Given the description of an element on the screen output the (x, y) to click on. 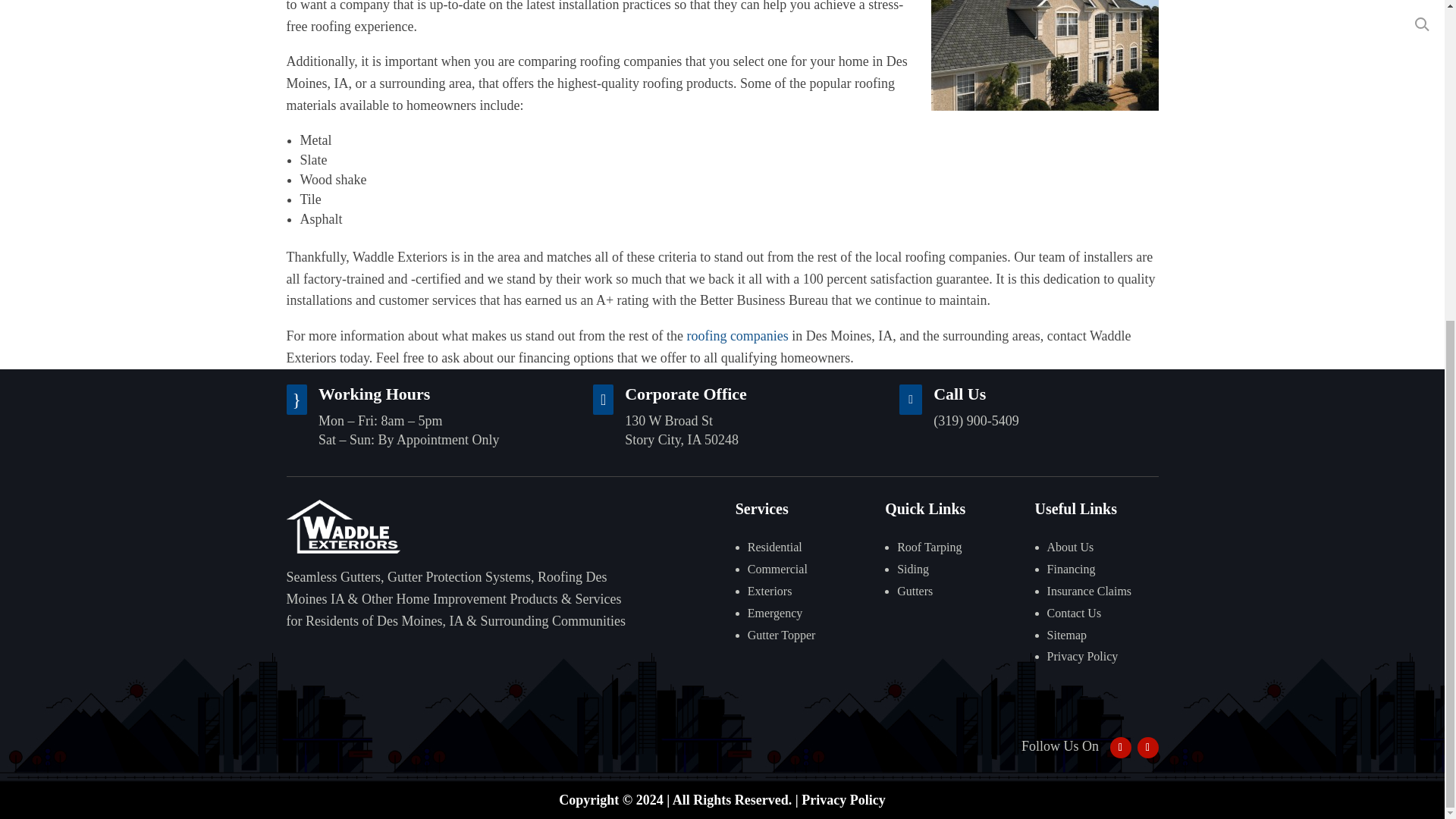
Follow on Facebook (1120, 747)
Roofing Companies Des Moines (1044, 55)
waddle-logo-white (343, 525)
Follow on LinkedIn (1147, 747)
